Given the description of an element on the screen output the (x, y) to click on. 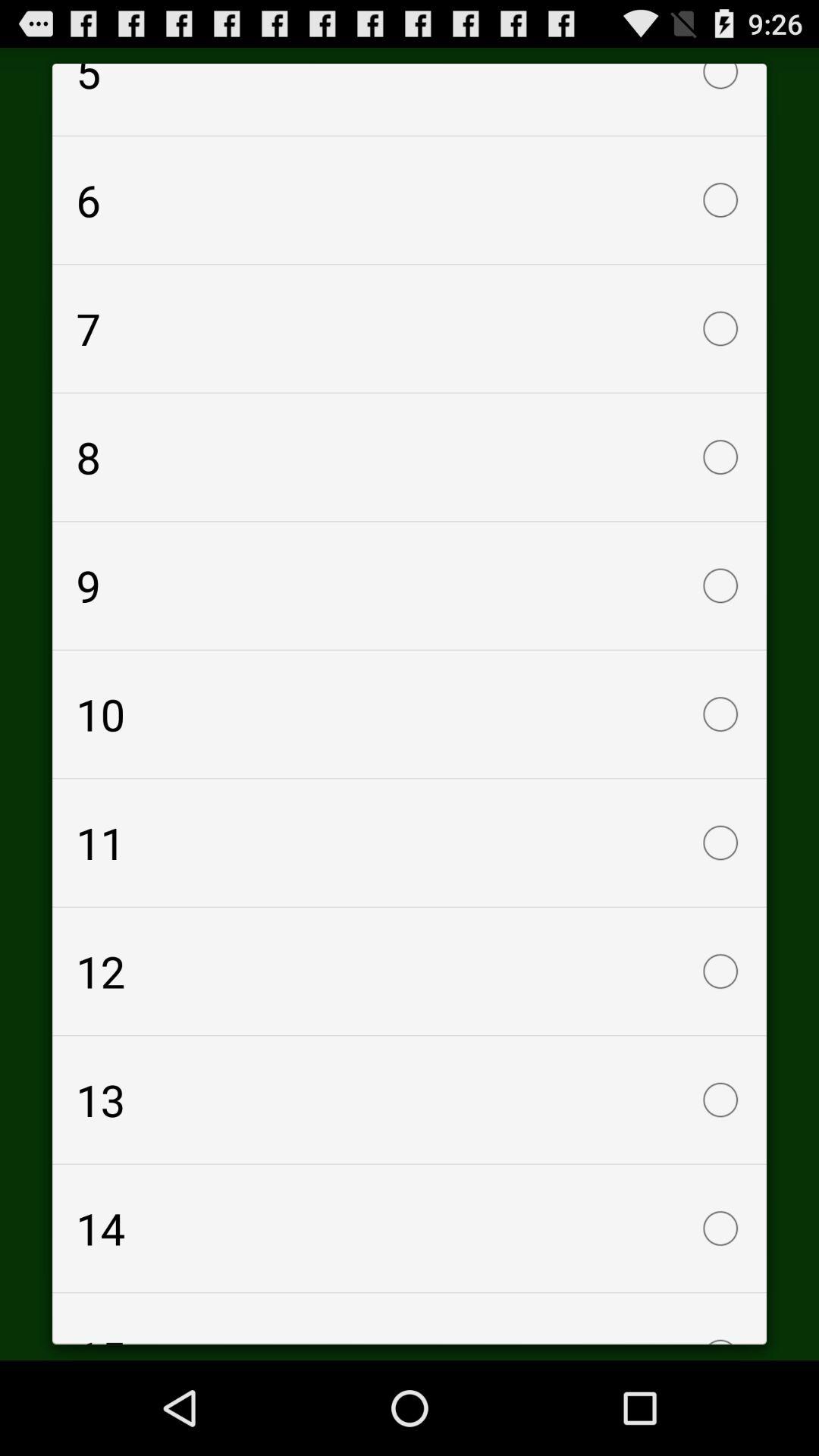
flip until 15 item (409, 1318)
